Given the description of an element on the screen output the (x, y) to click on. 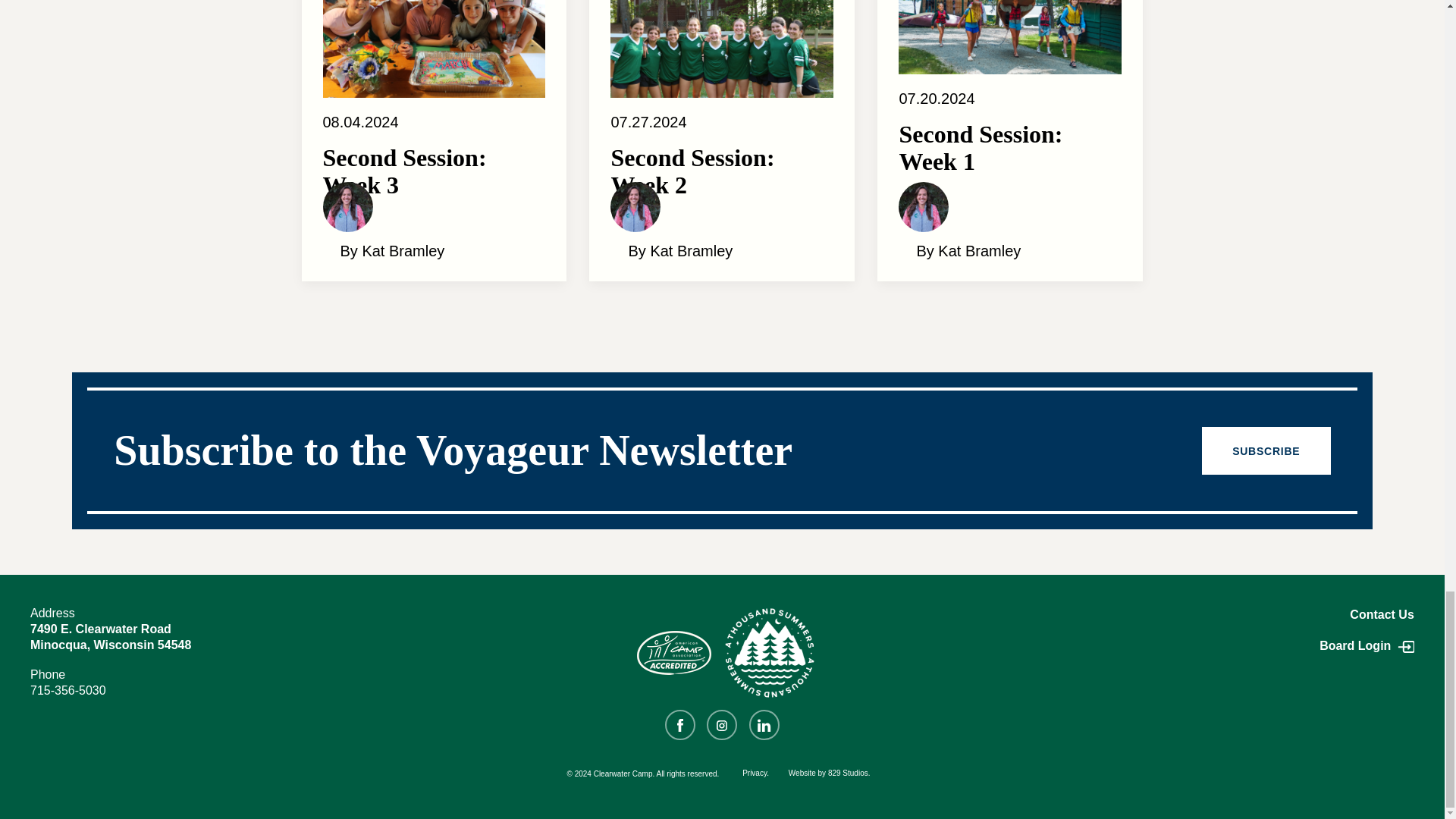
Kat Bramley (347, 205)
Second Session: Week 3 (434, 22)
Second Session: Week 3 (434, 177)
